Given the description of an element on the screen output the (x, y) to click on. 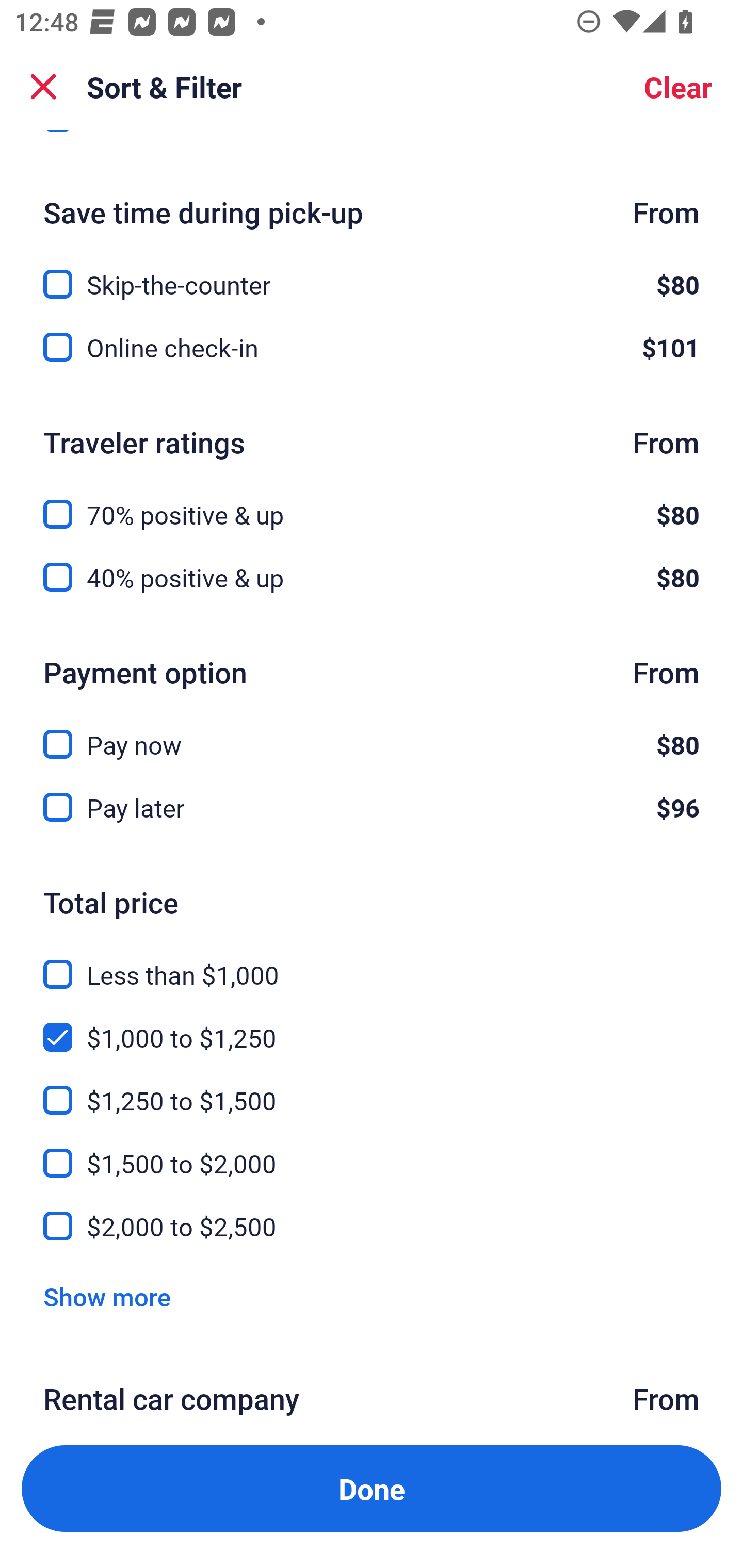
Close Sort and Filter (43, 86)
Clear (677, 86)
Skip-the-counter, $80 Skip-the-counter $80 (371, 272)
Online check-in, $101 Online check-in $101 (371, 347)
70% positive & up, $80 70% positive & up $80 (371, 502)
40% positive & up, $80 40% positive & up $80 (371, 577)
Pay now, $80 Pay now $80 (371, 732)
Pay later, $96 Pay later $96 (371, 808)
Less than $1,000, Less than $1,000 (371, 962)
$1,000 to $1,250, $1,000 to $1,250 (371, 1025)
$1,250 to $1,500, $1,250 to $1,500 (371, 1087)
$1,500 to $2,000, $1,500 to $2,000 (371, 1151)
$2,000 to $2,500, $2,000 to $2,500 (371, 1226)
Show more Show more Link (106, 1296)
Apply and close Sort and Filter Done (371, 1488)
